Given the description of an element on the screen output the (x, y) to click on. 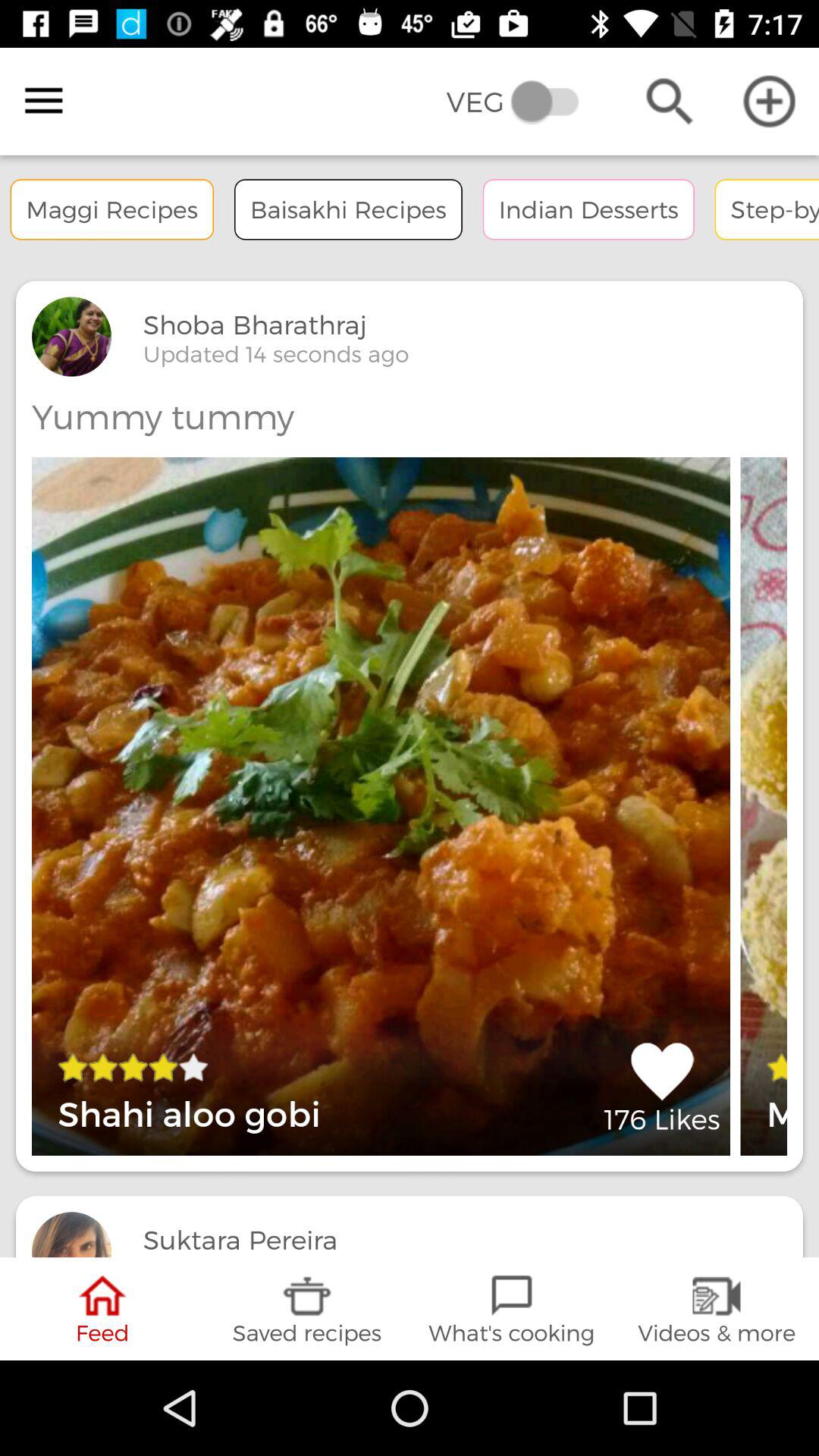
press the yummy tummy item (162, 416)
